Given the description of an element on the screen output the (x, y) to click on. 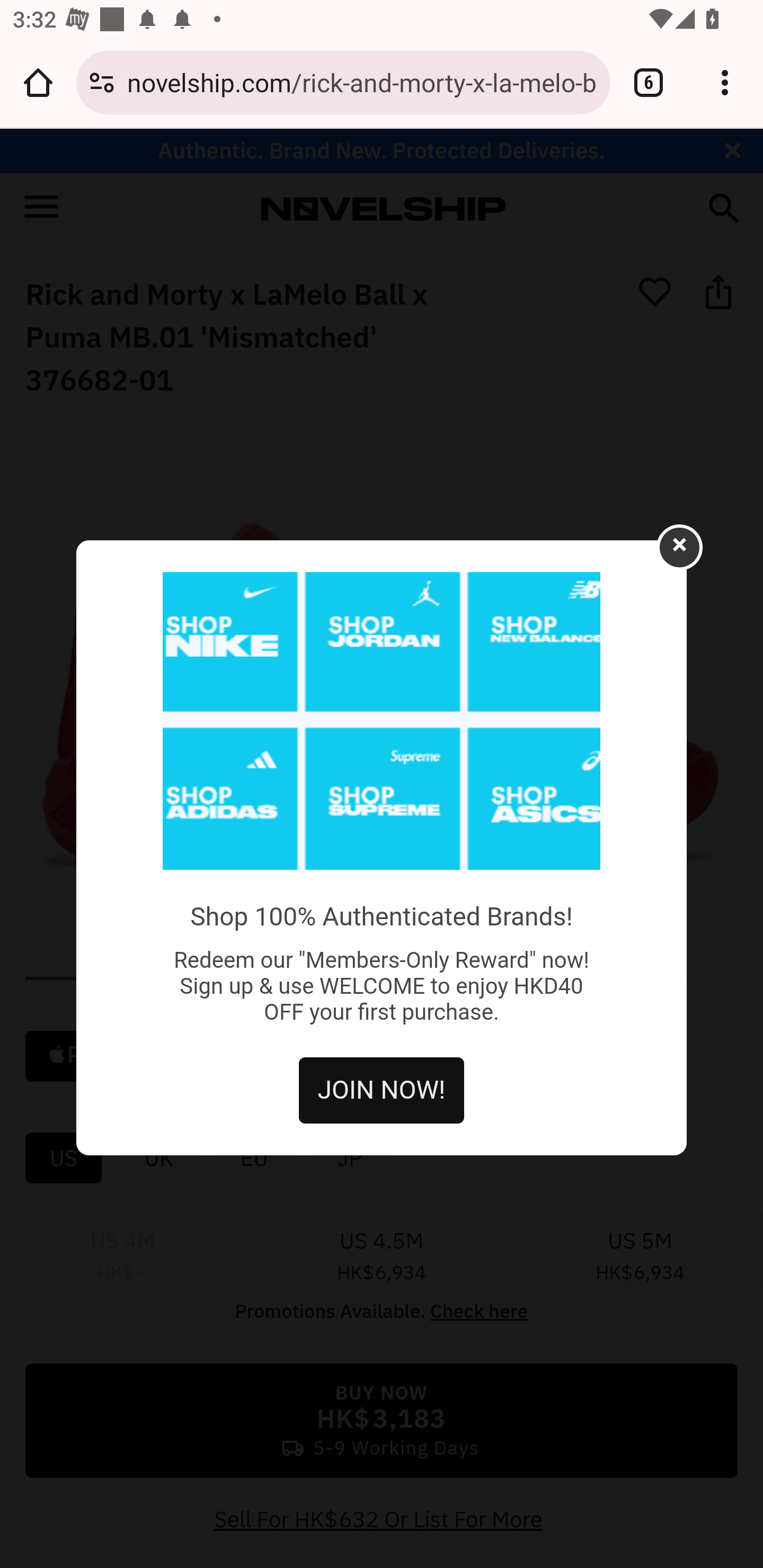
Open the home page (38, 82)
Connection is secure (101, 82)
Switch or close tabs (648, 82)
Customize and control Google Chrome (724, 82)
JOIN NOW! (381, 1090)
